Given the description of an element on the screen output the (x, y) to click on. 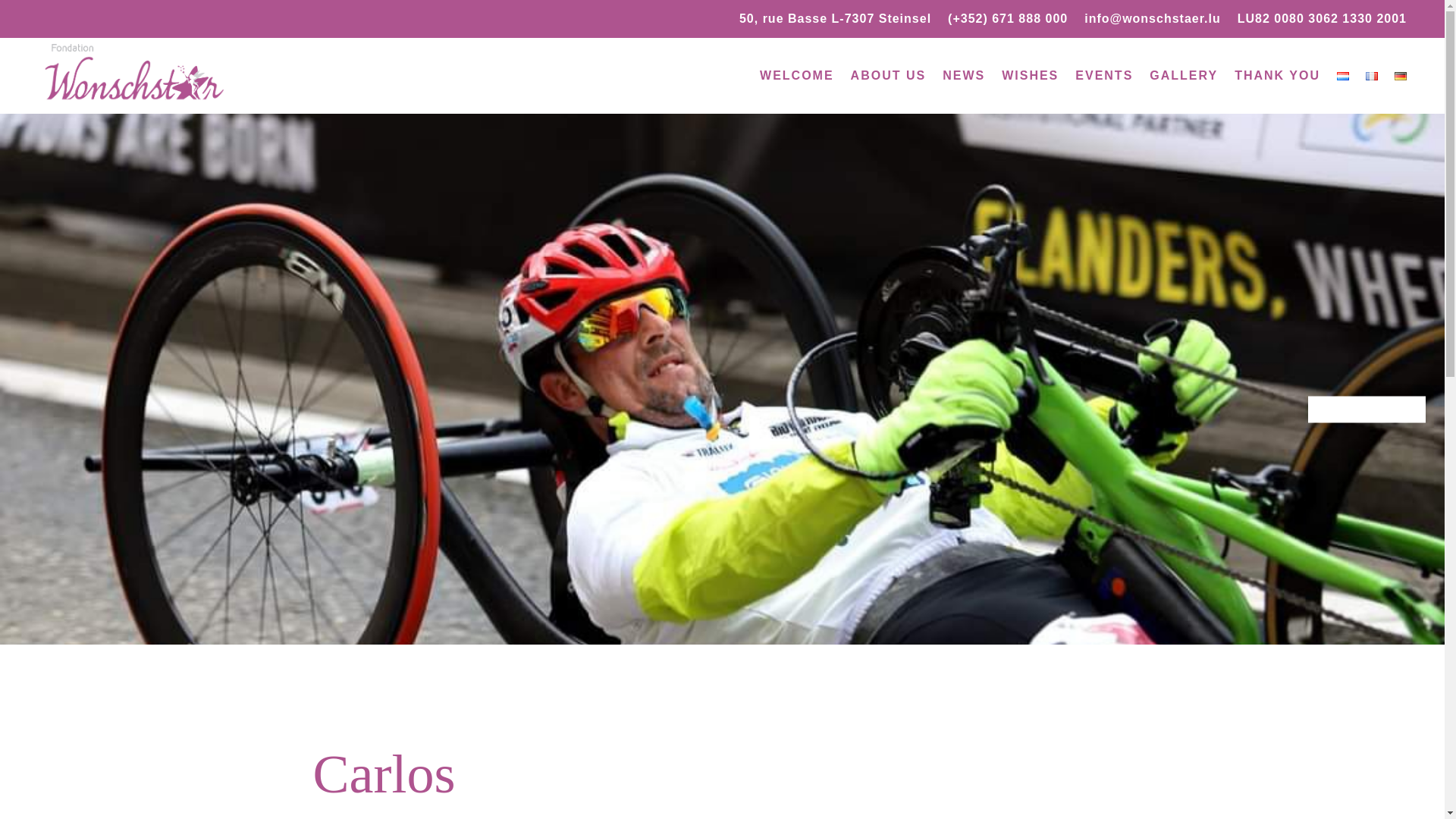
WELCOME (797, 75)
GALLERY (1183, 75)
THANK YOU (1277, 75)
50, rue Basse L-7307 Steinsel (835, 21)
LU82 0080 3062 1330 2001 (1321, 21)
ABOUT US (888, 75)
